Given the description of an element on the screen output the (x, y) to click on. 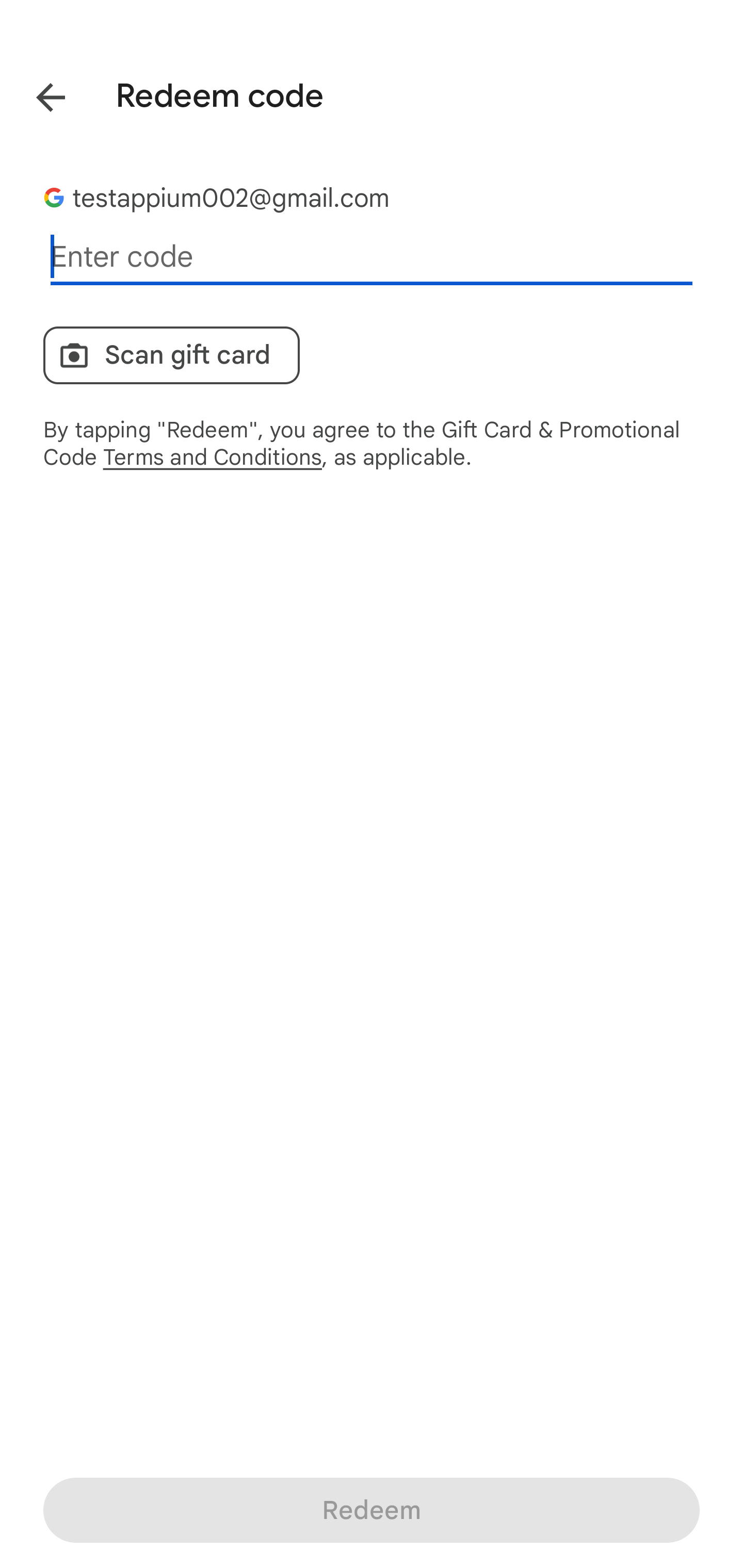
Back (36, 94)
Enter code (371, 256)
Scan gift card (171, 355)
